Given the description of an element on the screen output the (x, y) to click on. 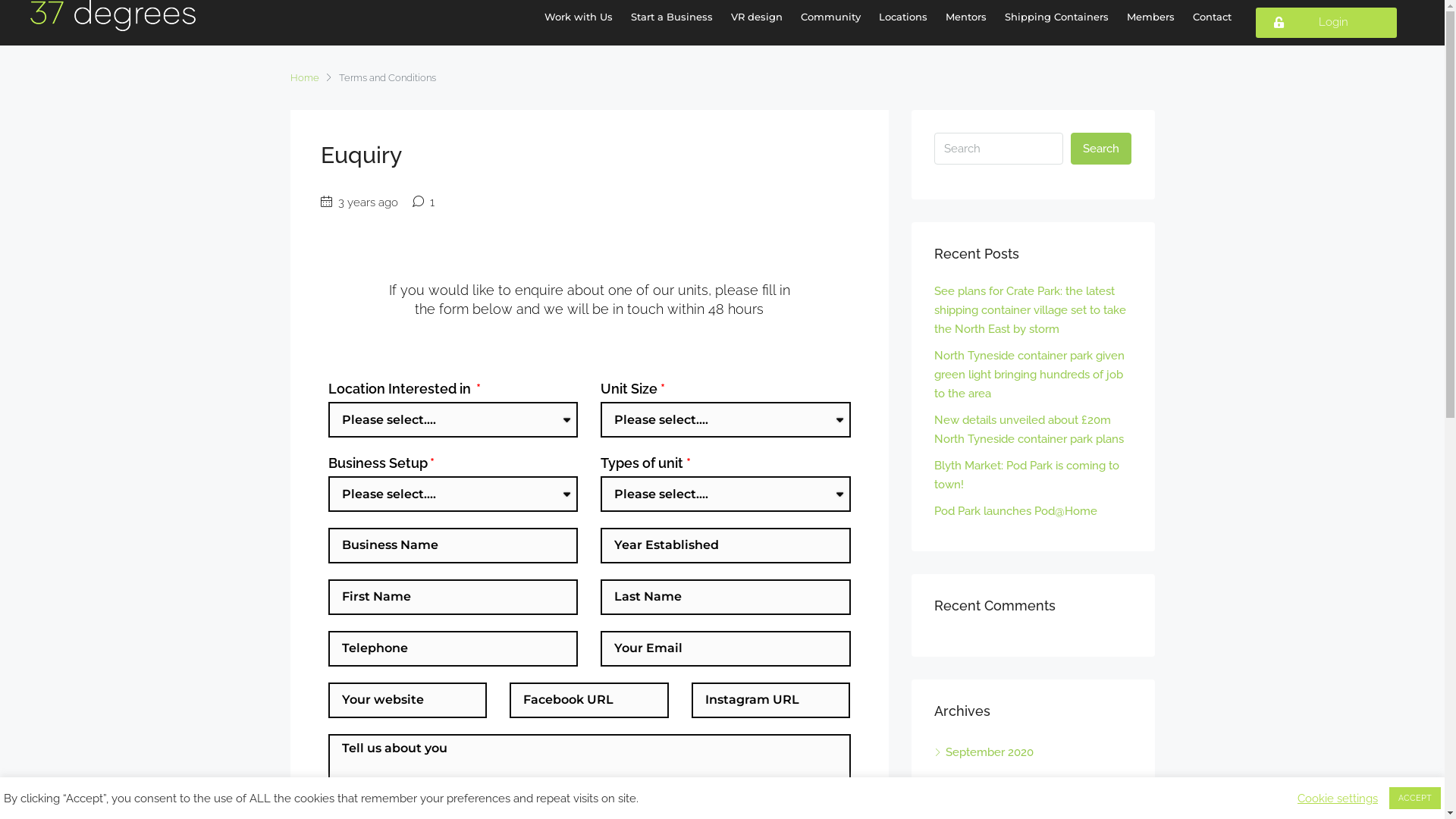
Search Element type: text (1100, 148)
Start a Business Element type: text (671, 16)
Shipping Containers Element type: text (1056, 16)
Mentors Element type: text (965, 16)
Community Element type: text (830, 16)
Contact Element type: text (1211, 16)
Blyth Market: Pod Park is coming to town! Element type: text (1026, 474)
Cookie settings Element type: text (1337, 798)
September 2020 Element type: text (983, 752)
Login Element type: text (1325, 22)
Locations Element type: text (902, 16)
ACCEPT Element type: text (1414, 798)
VR design Element type: text (756, 16)
Home Element type: text (303, 77)
Members Element type: text (1150, 16)
Work with Us Element type: text (578, 16)
Pod Park launches Pod@Home Element type: text (1015, 510)
